Given the description of an element on the screen output the (x, y) to click on. 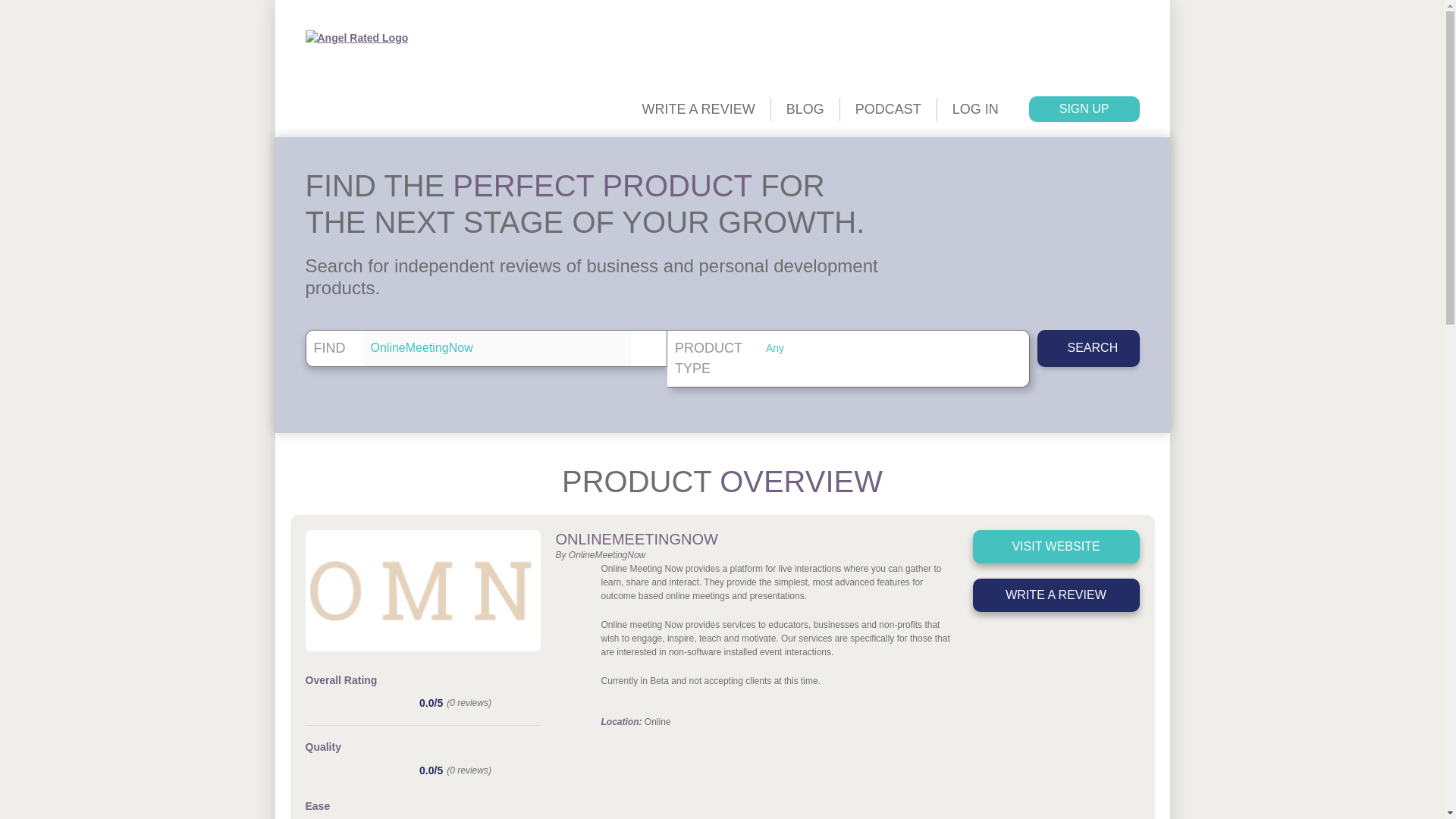
WRITE A REVIEW (698, 108)
PODCAST (888, 108)
SIGN UP (1084, 109)
BLOG (805, 108)
LOG IN (974, 108)
OnlineMeetingNow (496, 348)
